Given the description of an element on the screen output the (x, y) to click on. 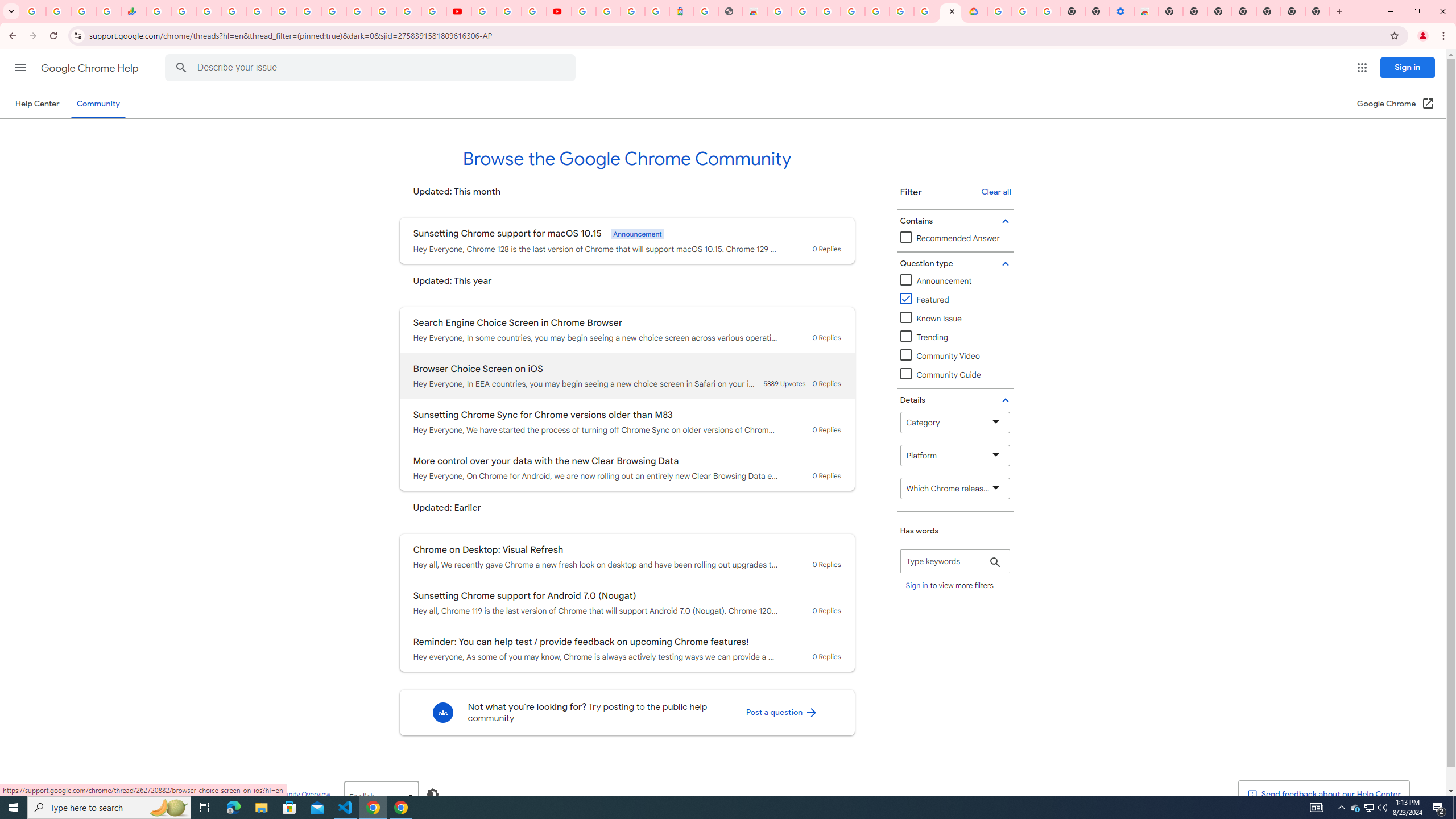
Which Chrome release channel are you using? (954, 488)
Sign in - Google Accounts (358, 11)
Platform (954, 455)
Search Help Center (181, 67)
Community Overview (297, 794)
